Given the description of an element on the screen output the (x, y) to click on. 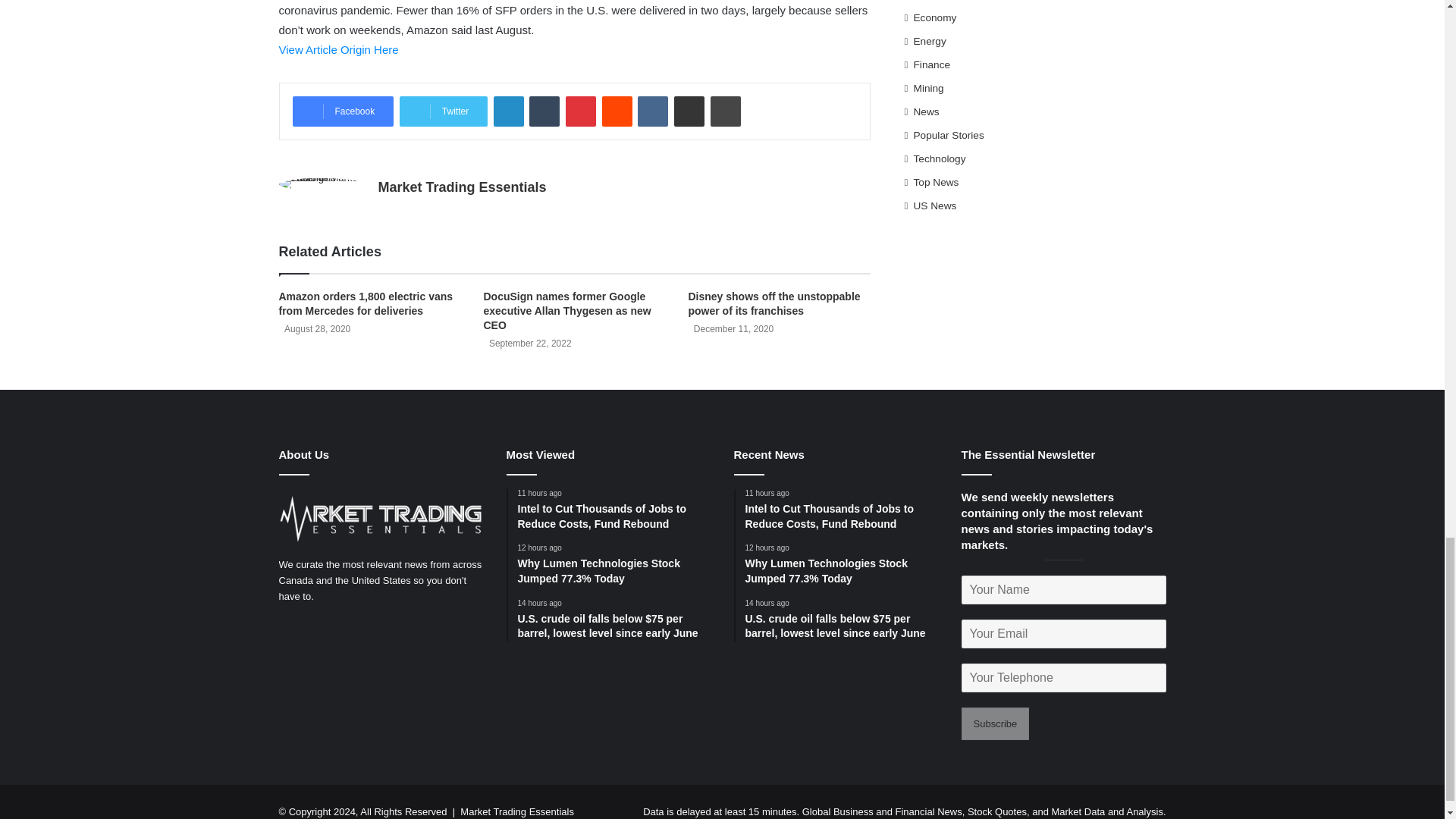
Facebook (343, 111)
Facebook (343, 111)
Tumblr (544, 111)
View Article Origin Here (338, 49)
Reddit (616, 111)
Twitter (442, 111)
LinkedIn (508, 111)
Twitter (442, 111)
Share via Email (689, 111)
Print (725, 111)
LinkedIn (508, 111)
Pinterest (580, 111)
VKontakte (652, 111)
